Given the description of an element on the screen output the (x, y) to click on. 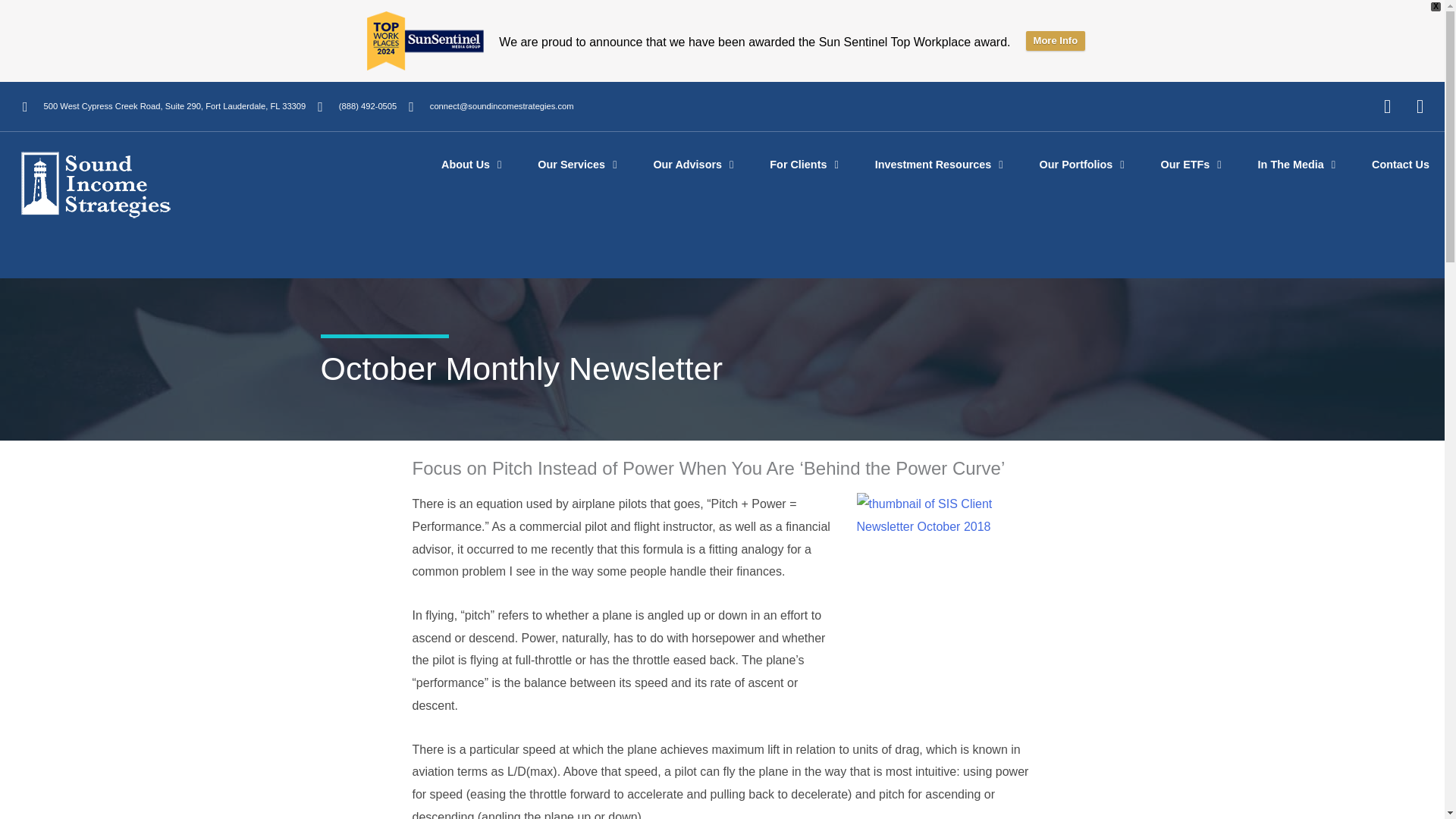
sis-logo-new-100-white (95, 184)
About Us (470, 164)
Our Advisors (692, 164)
For Clients (804, 164)
Investment Resources (939, 164)
Our Services (576, 164)
Our Portfolios (1081, 164)
In The Media (1296, 164)
More Info (1056, 40)
